Given the description of an element on the screen output the (x, y) to click on. 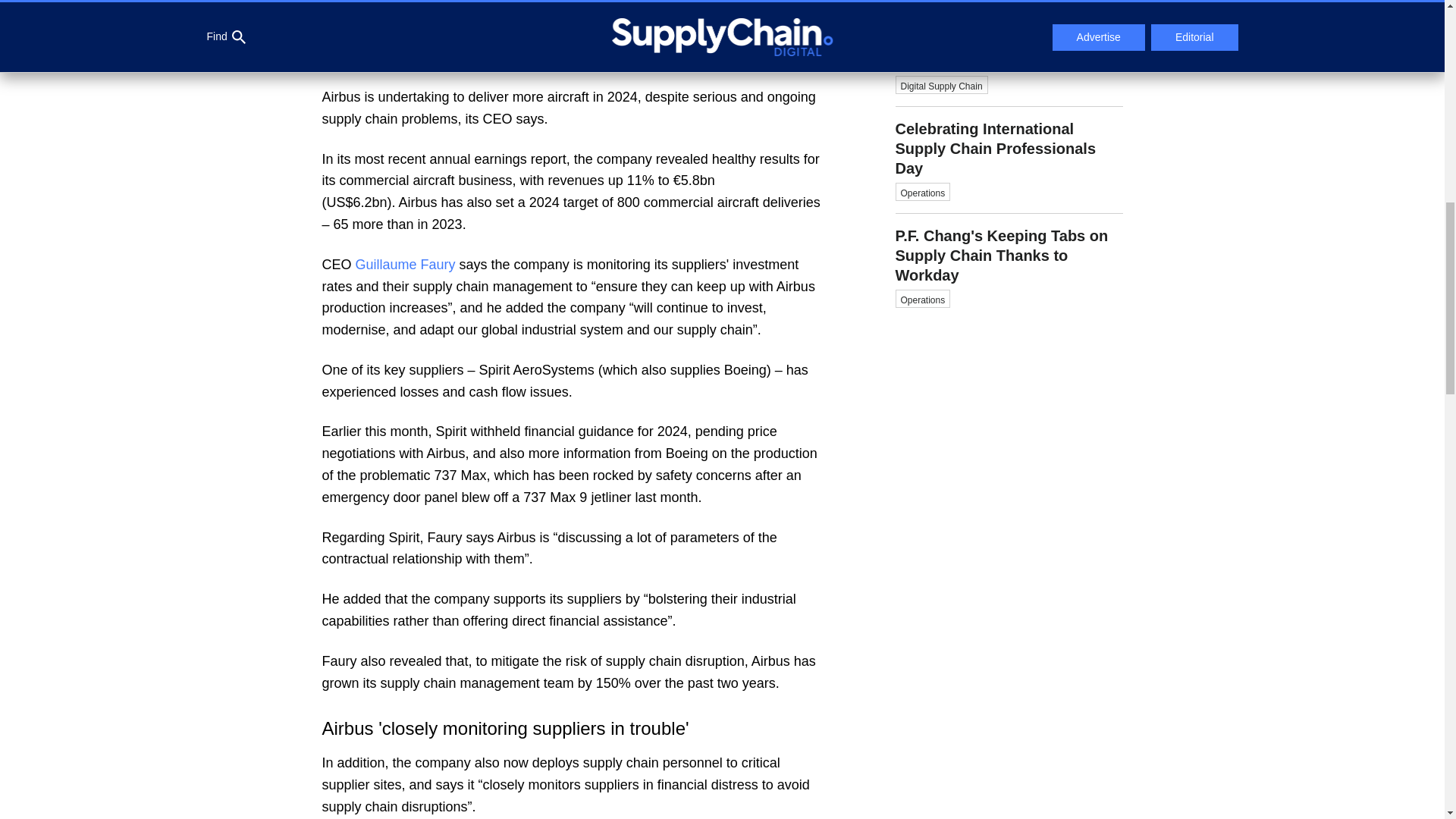
Guillaume Faury (405, 264)
